Given the description of an element on the screen output the (x, y) to click on. 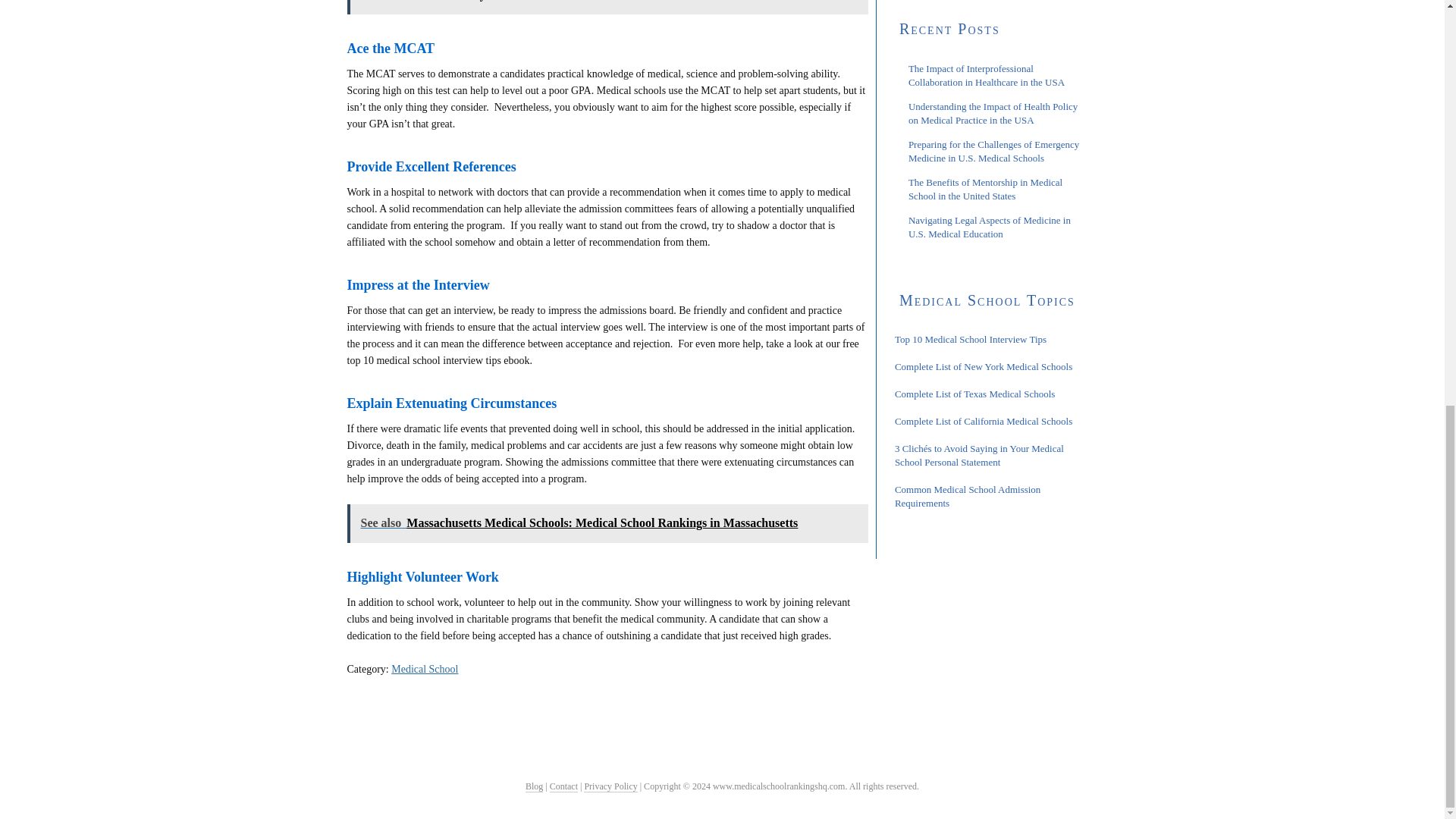
Contact (564, 786)
Medical School (424, 668)
Privacy Policy (610, 786)
Complete List of California Medical Schools (983, 420)
Complete List of New York Medical Schools (983, 366)
Complete List of Texas Medical Schools (975, 393)
See also  Yale University School of Medicine (607, 7)
Blog (534, 786)
Common Medical School Admission Requirements (968, 496)
Top 10 Medical School Interview Tips (970, 338)
